Given the description of an element on the screen output the (x, y) to click on. 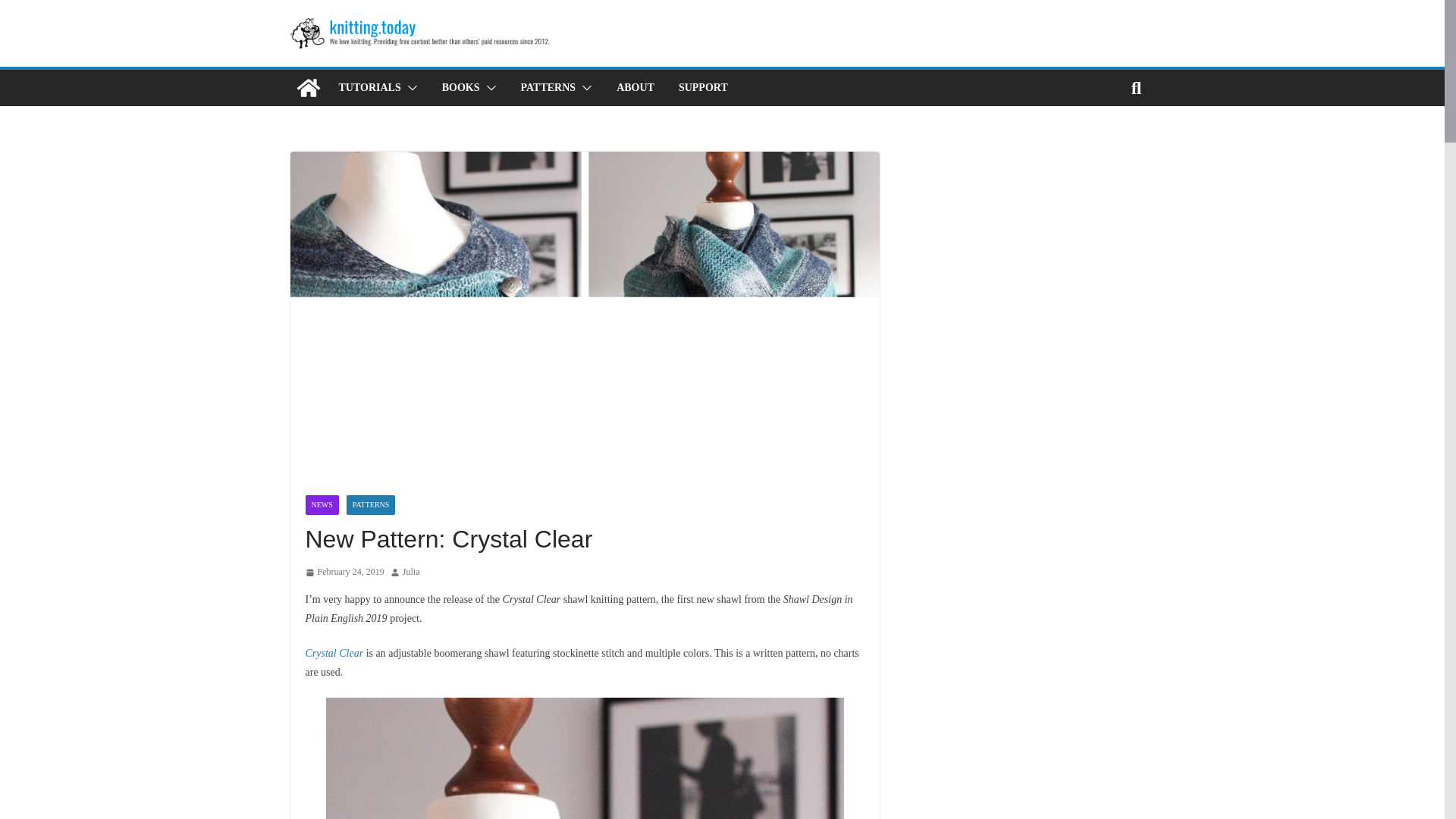
NEWS (320, 505)
Julia (411, 572)
Crystal Clear (333, 653)
PATTERNS (371, 505)
ABOUT (634, 87)
Julia (411, 572)
8:33 pm (344, 572)
TUTORIALS (368, 87)
BOOKS (461, 87)
PATTERNS (548, 87)
